Given the description of an element on the screen output the (x, y) to click on. 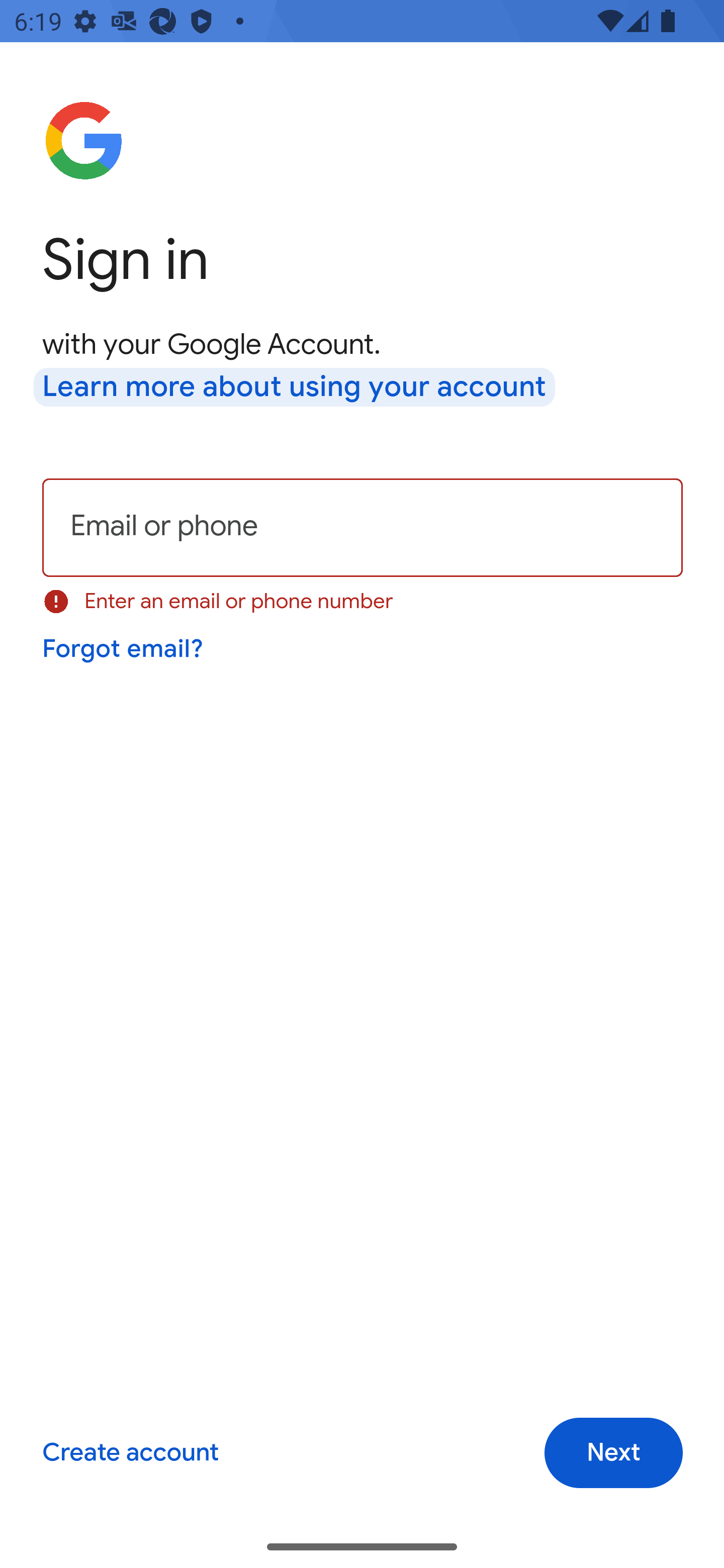
Learn more about using your account (294, 388)
Forgot email? (123, 648)
Create account (129, 1453)
Next (613, 1453)
